Given the description of an element on the screen output the (x, y) to click on. 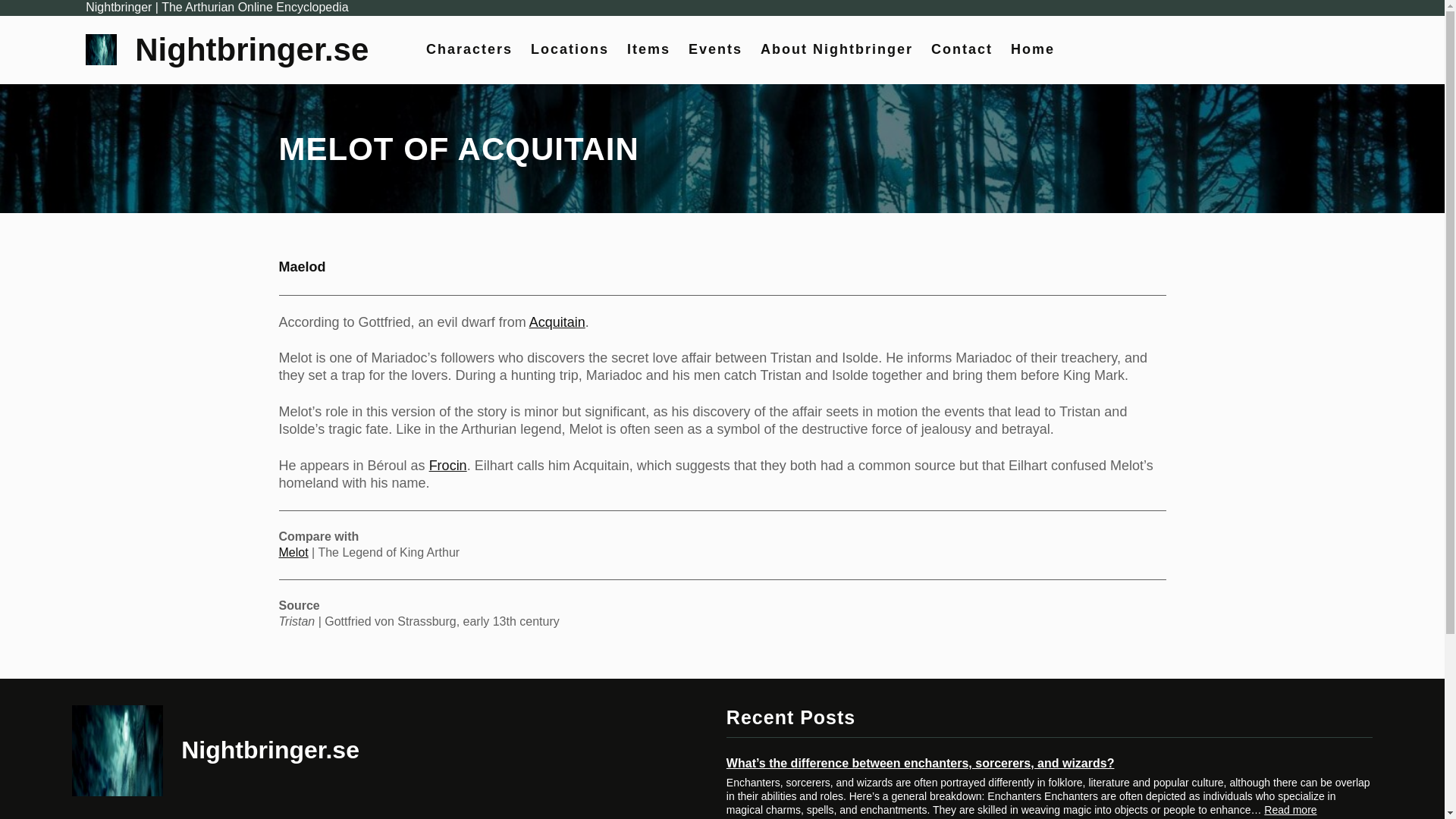
Frocin (448, 465)
About Nightbringer (836, 49)
Nightbringer.se (251, 49)
Items (648, 49)
Events (715, 49)
Acquitain (557, 322)
Locations (569, 49)
Melot (293, 552)
Read more (1289, 809)
Contact (961, 49)
Characters (469, 49)
Home (1032, 49)
Nightbringer.se (269, 749)
